Given the description of an element on the screen output the (x, y) to click on. 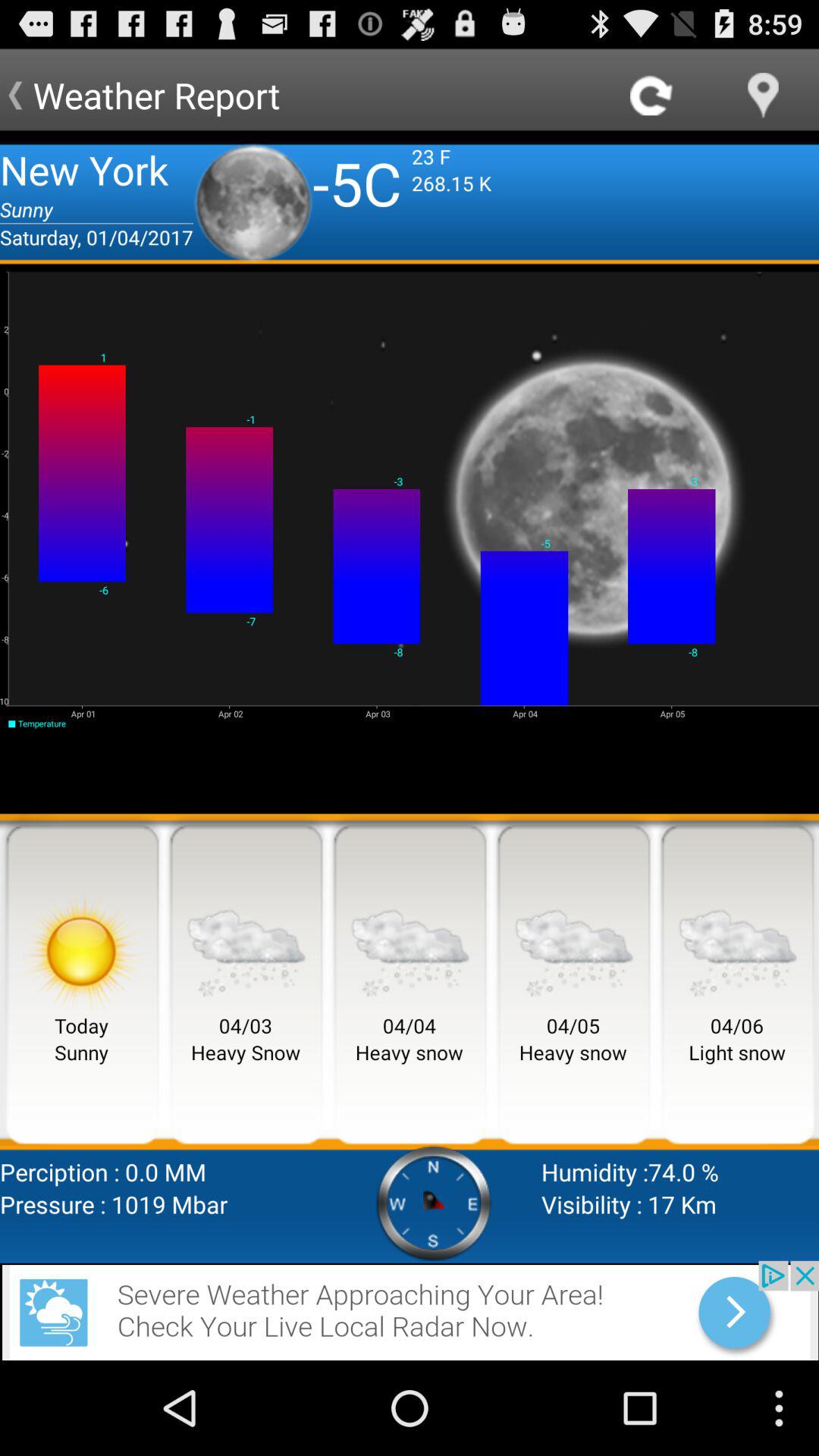
click advertisement (409, 1310)
